Given the description of an element on the screen output the (x, y) to click on. 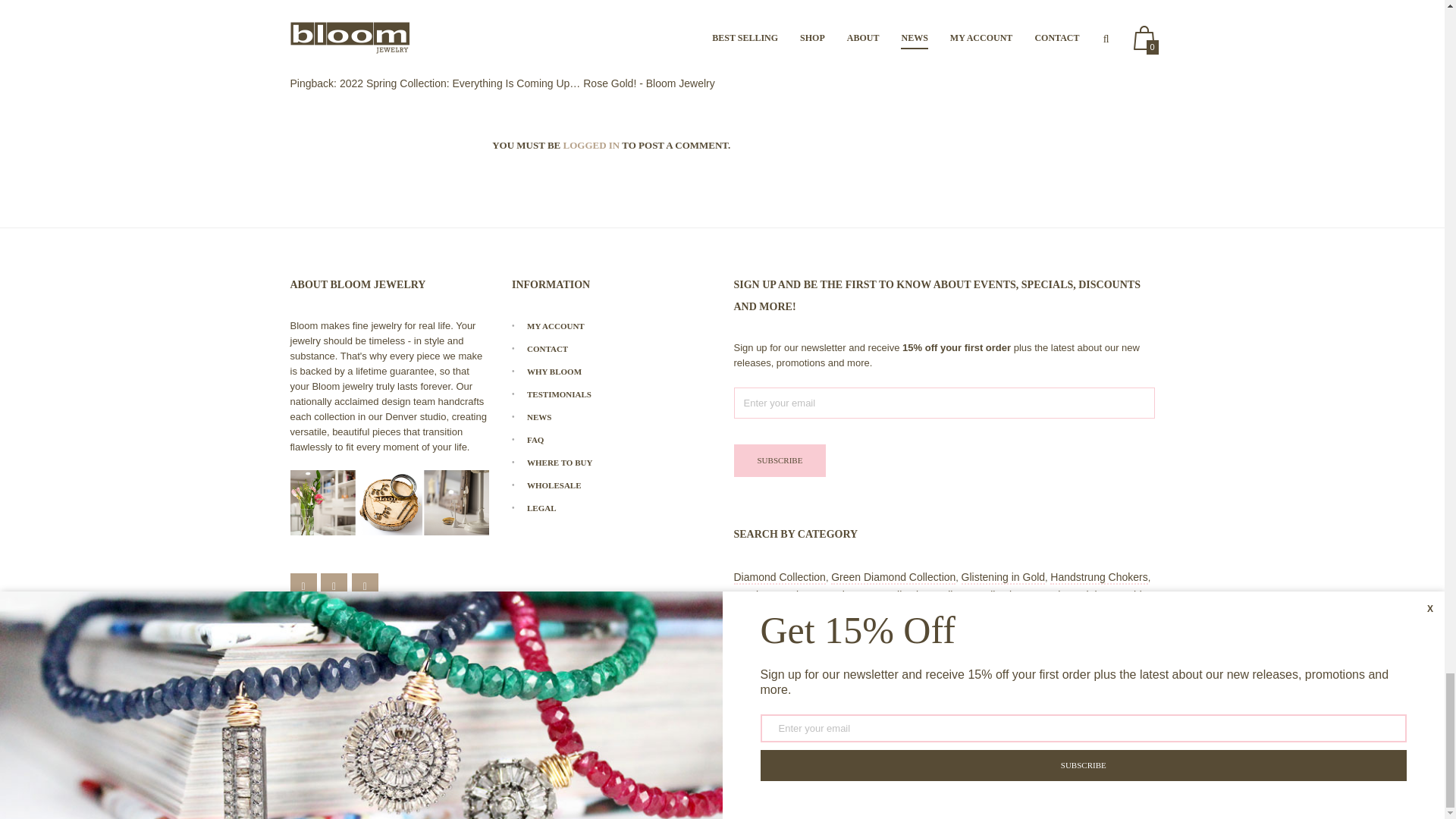
SUBSCRIBE (780, 460)
Handstrung Chokers (1098, 577)
Glistening in Gold (1002, 577)
Diamond Collection (779, 577)
Green Diamond Collection (893, 577)
